Given the description of an element on the screen output the (x, y) to click on. 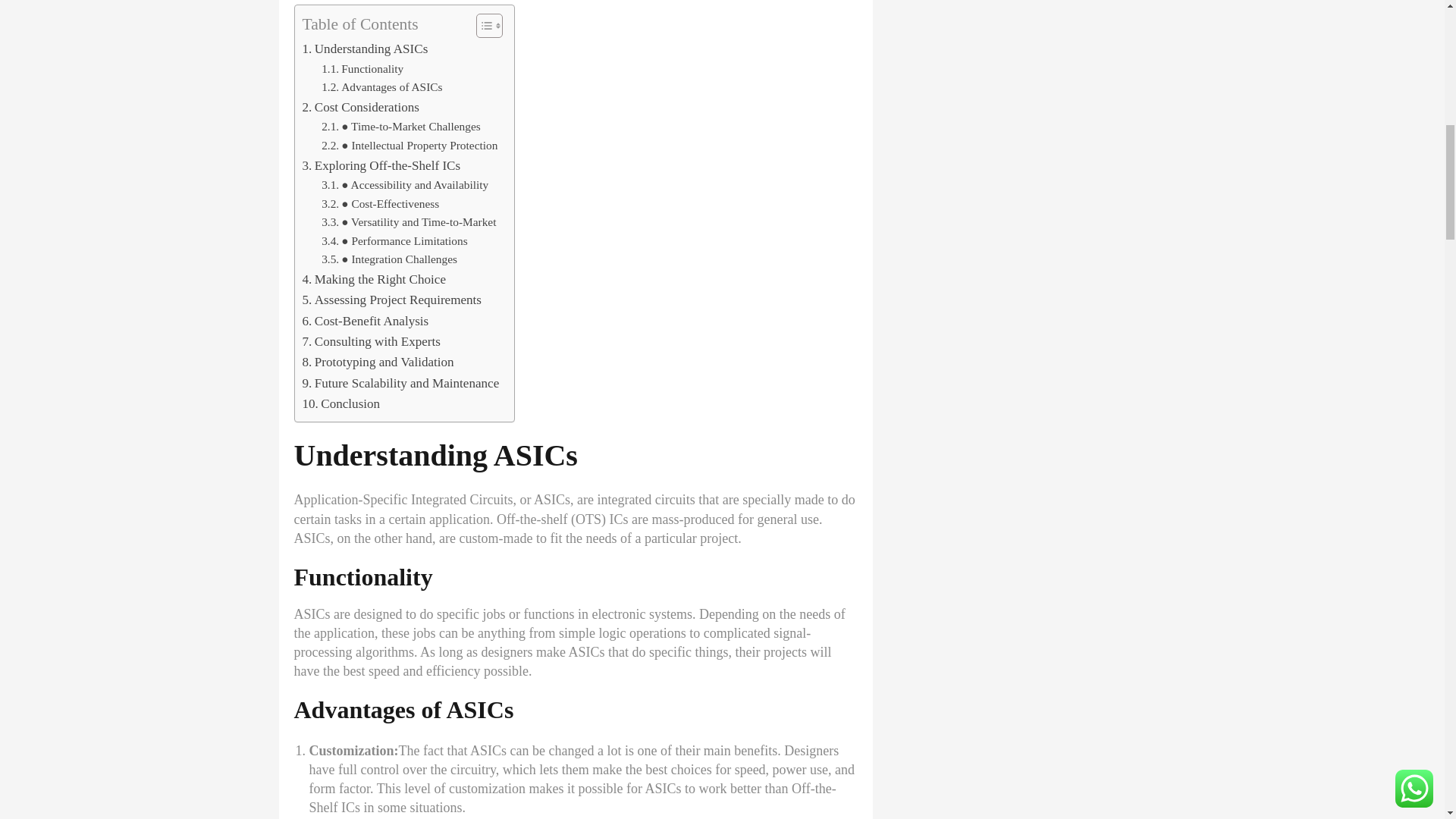
Prototyping and Validation (376, 362)
Understanding ASICs (364, 48)
Assessing Project Requirements (391, 299)
Cost-Benefit Analysis (364, 321)
Functionality (362, 68)
Advantages of ASICs (381, 87)
Cost Considerations (360, 107)
Consulting with Experts (370, 341)
Making the Right Choice (373, 279)
Exploring Off-the-Shelf ICs (380, 165)
